Given the description of an element on the screen output the (x, y) to click on. 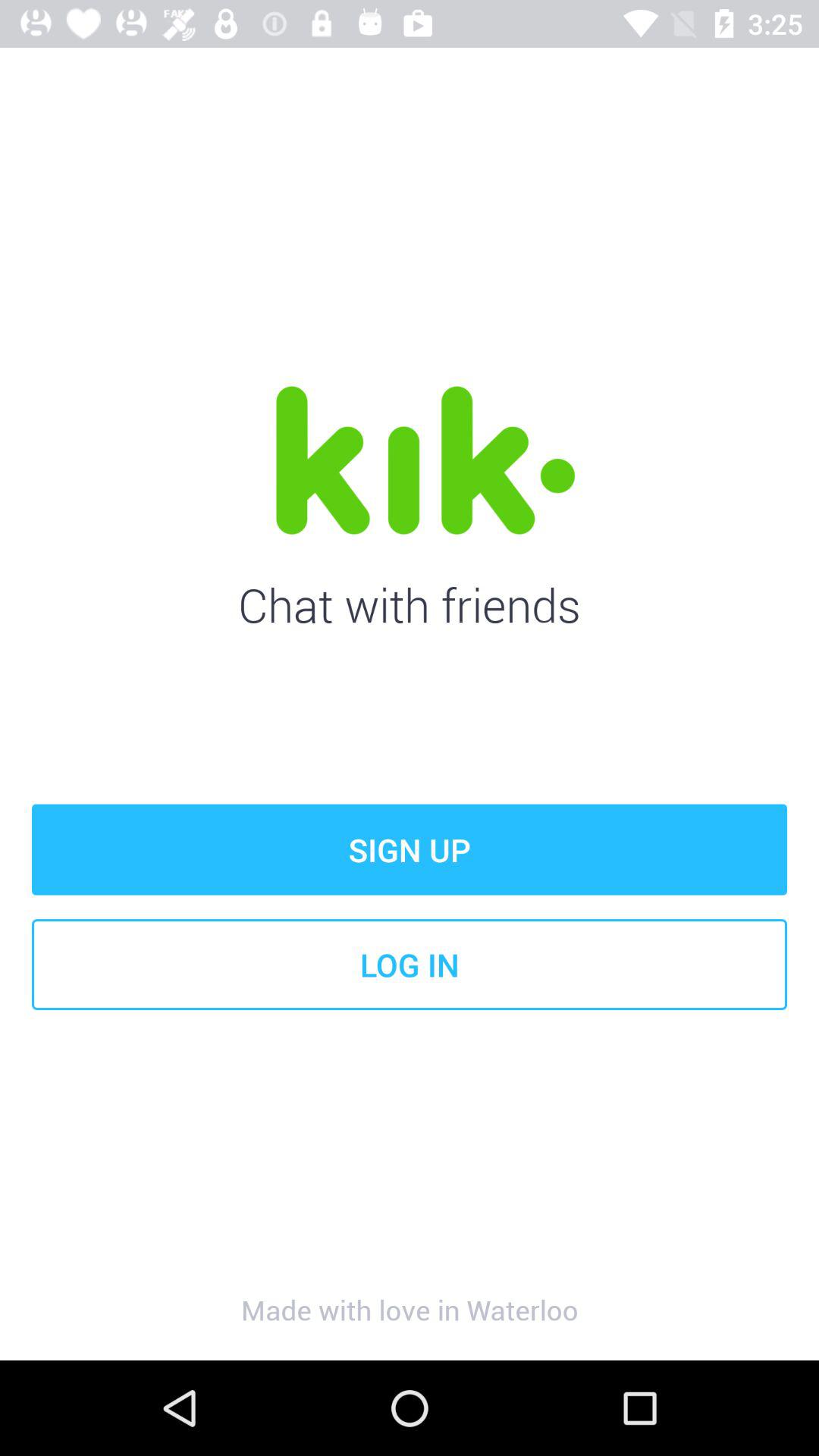
tap the log in icon (409, 964)
